Given the description of an element on the screen output the (x, y) to click on. 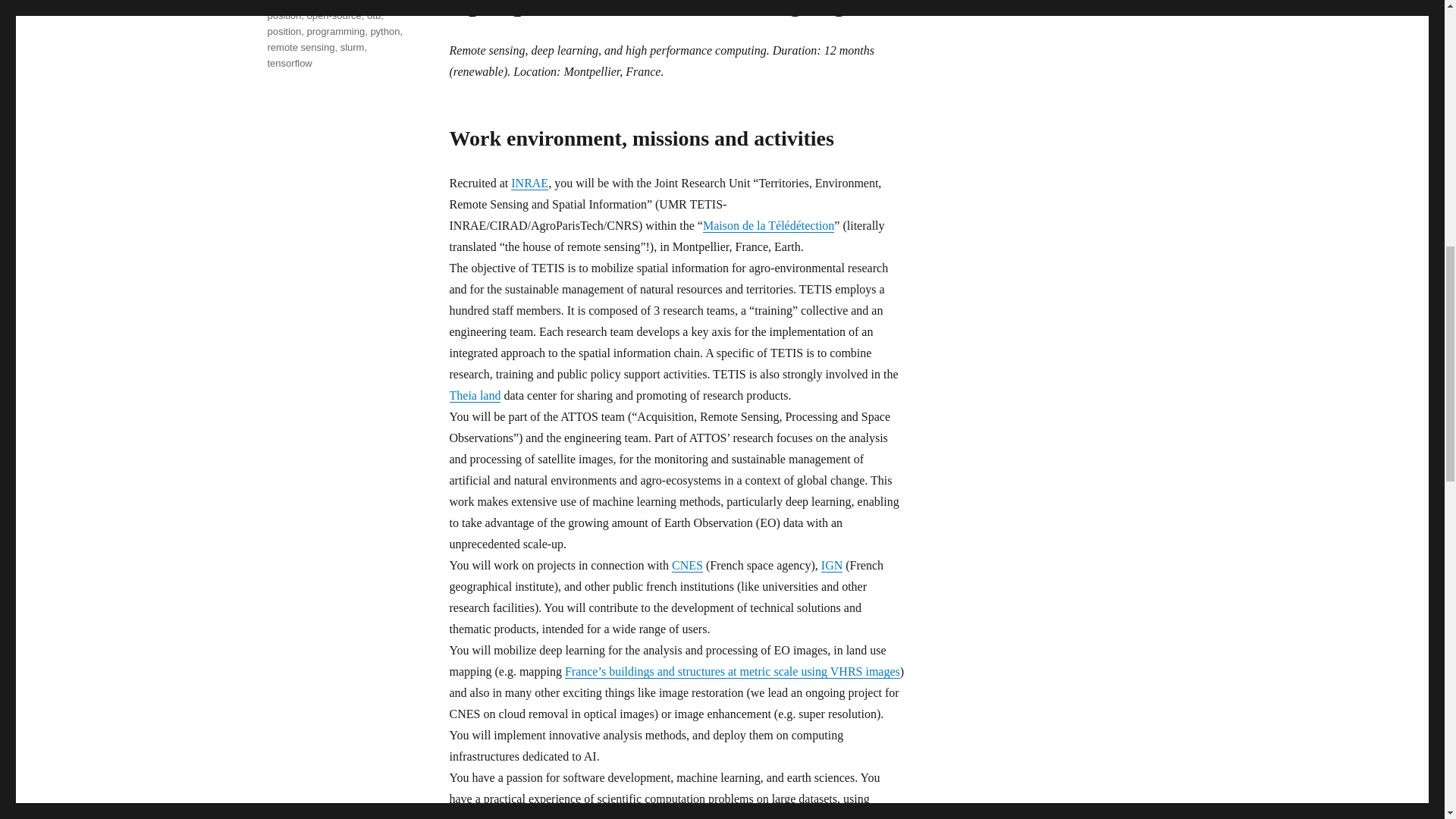
position (283, 30)
machine-learning (328, 2)
tensorflow (288, 62)
CNES (687, 564)
open-source (334, 15)
programming (336, 30)
remote sensing (300, 47)
slurm (352, 47)
INRAE (529, 182)
python (383, 30)
otb (373, 15)
jobs (275, 2)
open-position (331, 10)
Theia land (474, 395)
IGN (832, 564)
